Given the description of an element on the screen output the (x, y) to click on. 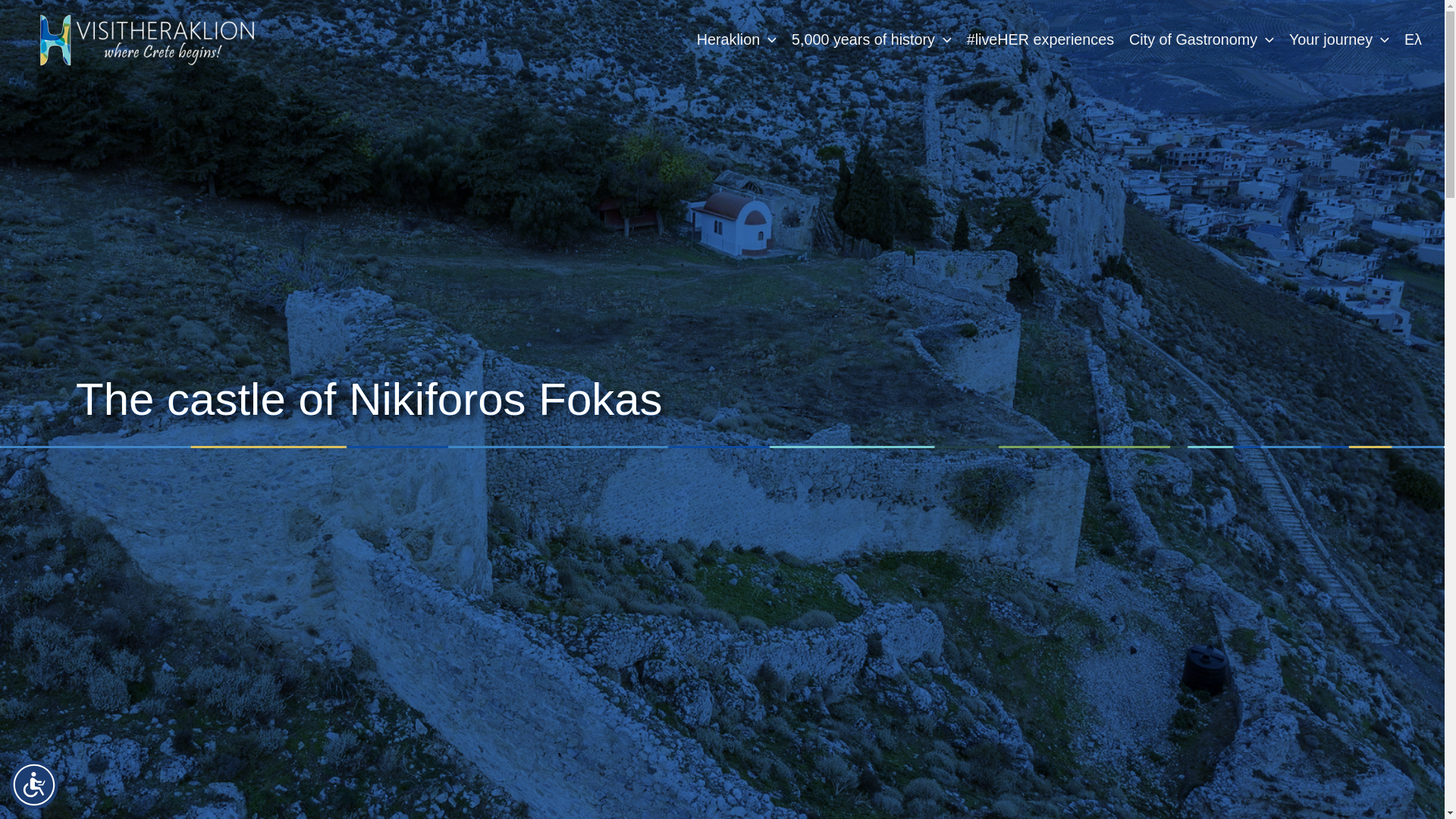
Your journey (1338, 40)
Accessibility Menu (34, 784)
5,000 years of history (871, 40)
City of Gastronomy (1201, 40)
Heraklion (736, 40)
